Given the description of an element on the screen output the (x, y) to click on. 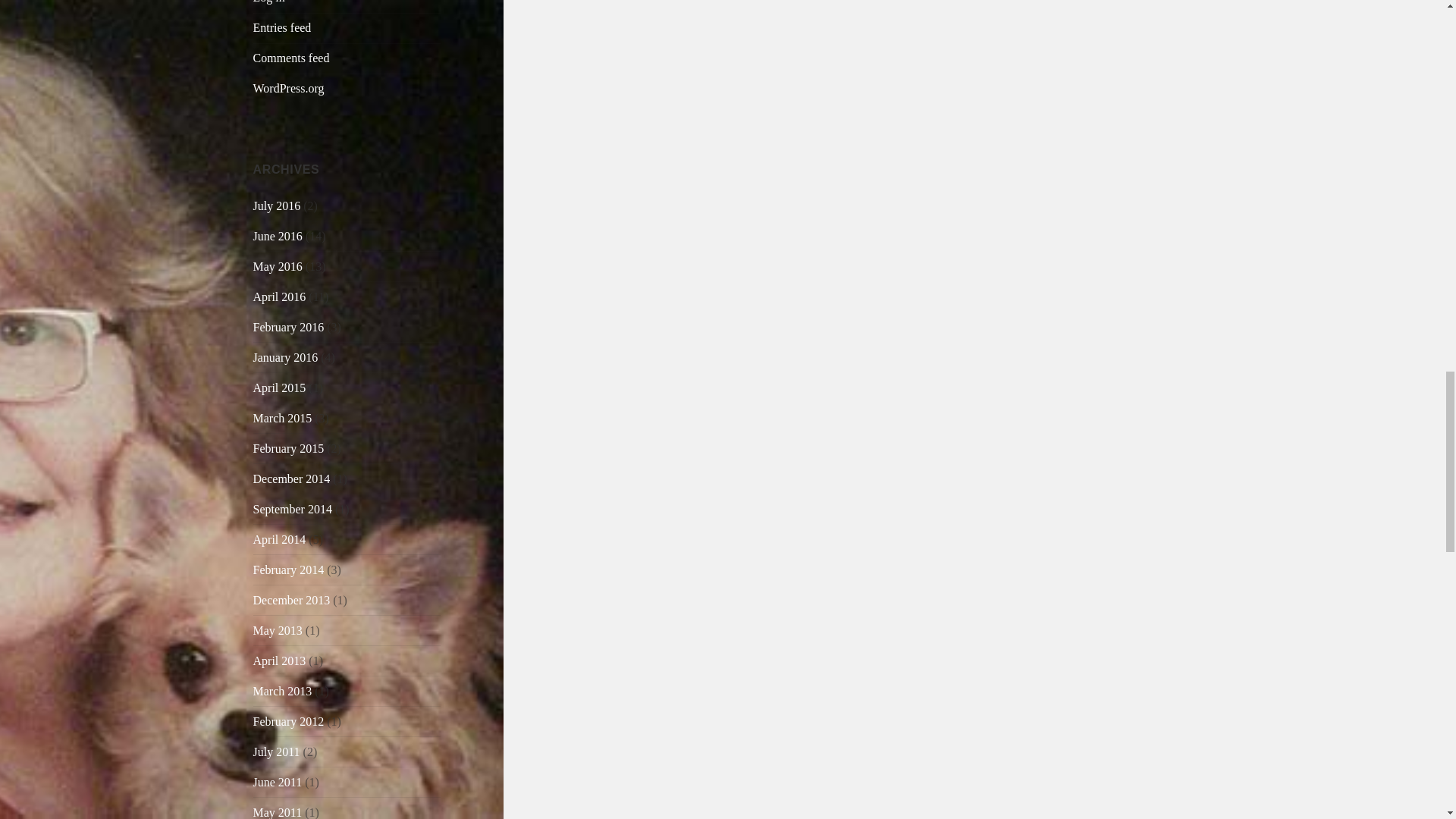
Comments feed (291, 57)
Entries feed (282, 27)
Log in (269, 2)
